Given the description of an element on the screen output the (x, y) to click on. 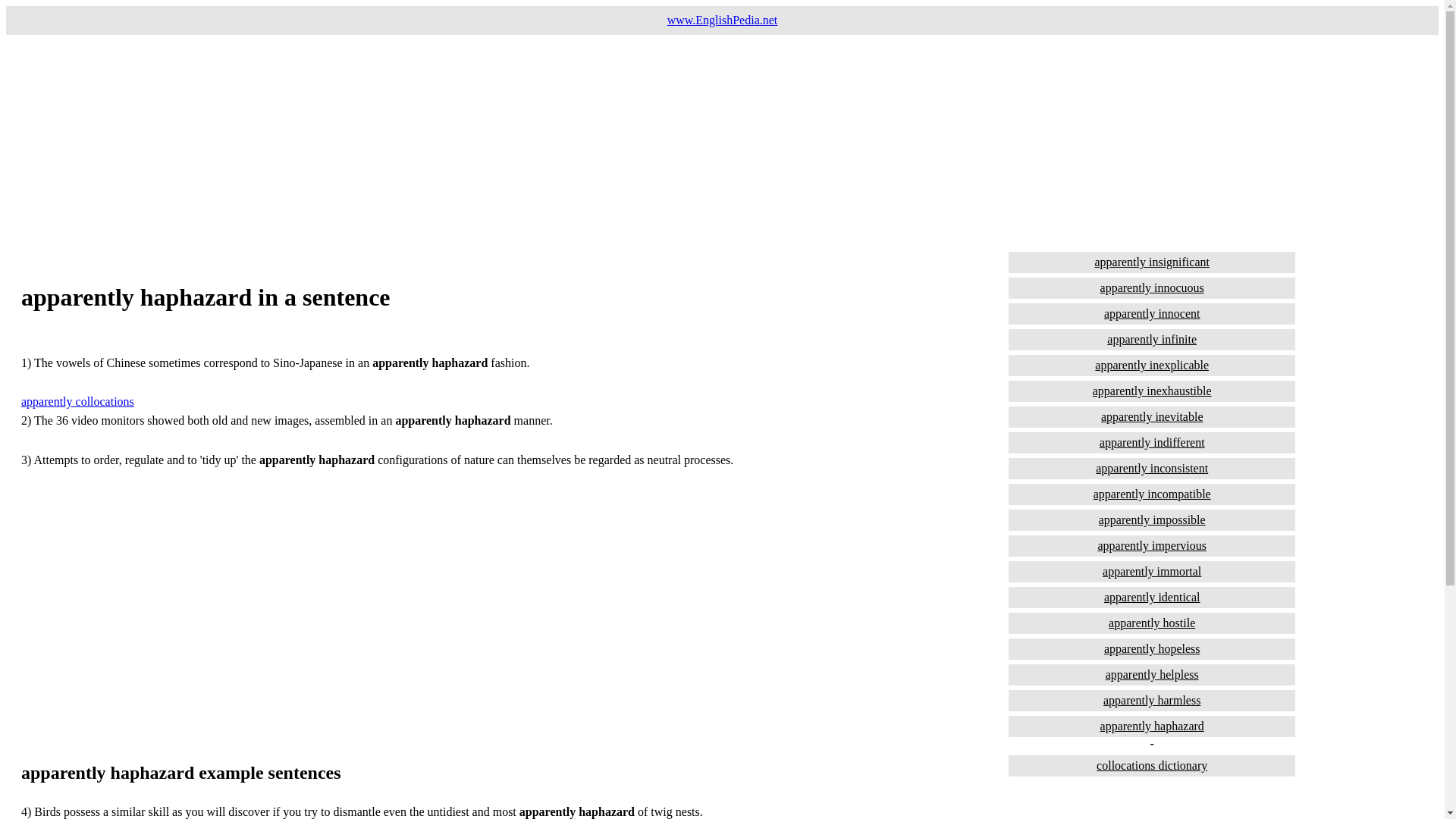
apparently inexplicable (1152, 364)
apparently impervious in a sentence (1152, 545)
apparently identical in a sentence (1152, 597)
apparently harmless (1152, 700)
apparently hopeless (1152, 649)
apparently insignificant in a sentence (1152, 261)
apparently collocations (77, 400)
apparently helpless (1152, 674)
apparently inevitable in a sentence (1152, 416)
apparently infinite in a sentence (1152, 339)
